Given the description of an element on the screen output the (x, y) to click on. 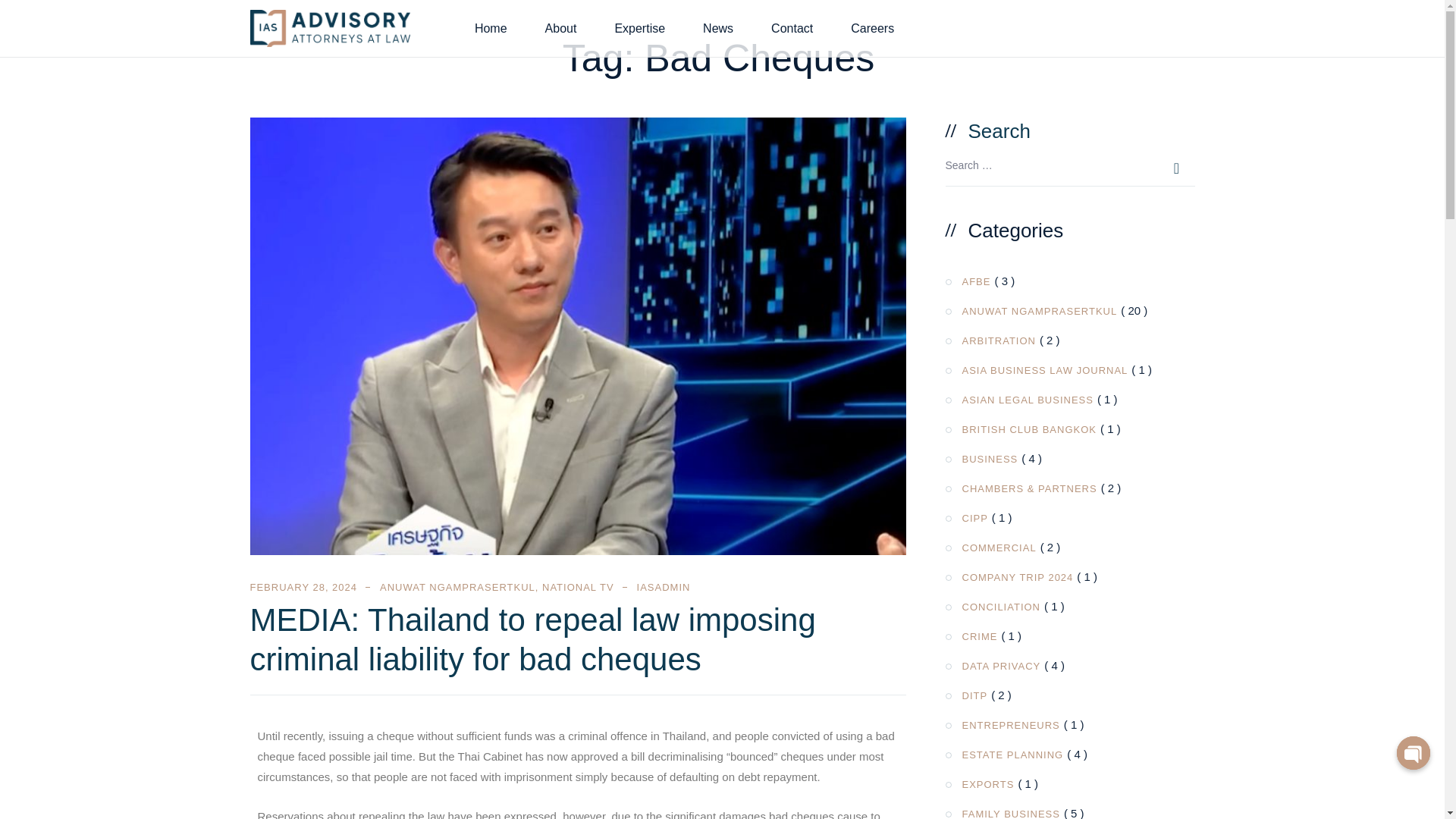
NATIONAL TV (577, 586)
BRITISH CLUB BANGKOK (1021, 428)
COMMERCIAL (991, 546)
AFBE (969, 280)
IASADMIN (663, 586)
FEBRUARY 28, 2024 (304, 586)
CIPP (967, 517)
ASIAN LEGAL BUSINESS (1020, 398)
Expertise (639, 28)
IAS Advisory (330, 27)
ARBITRATION (991, 339)
COMPANY TRIP 2024 (1010, 576)
BUSINESS (983, 457)
CONCILIATION (993, 606)
